Given the description of an element on the screen output the (x, y) to click on. 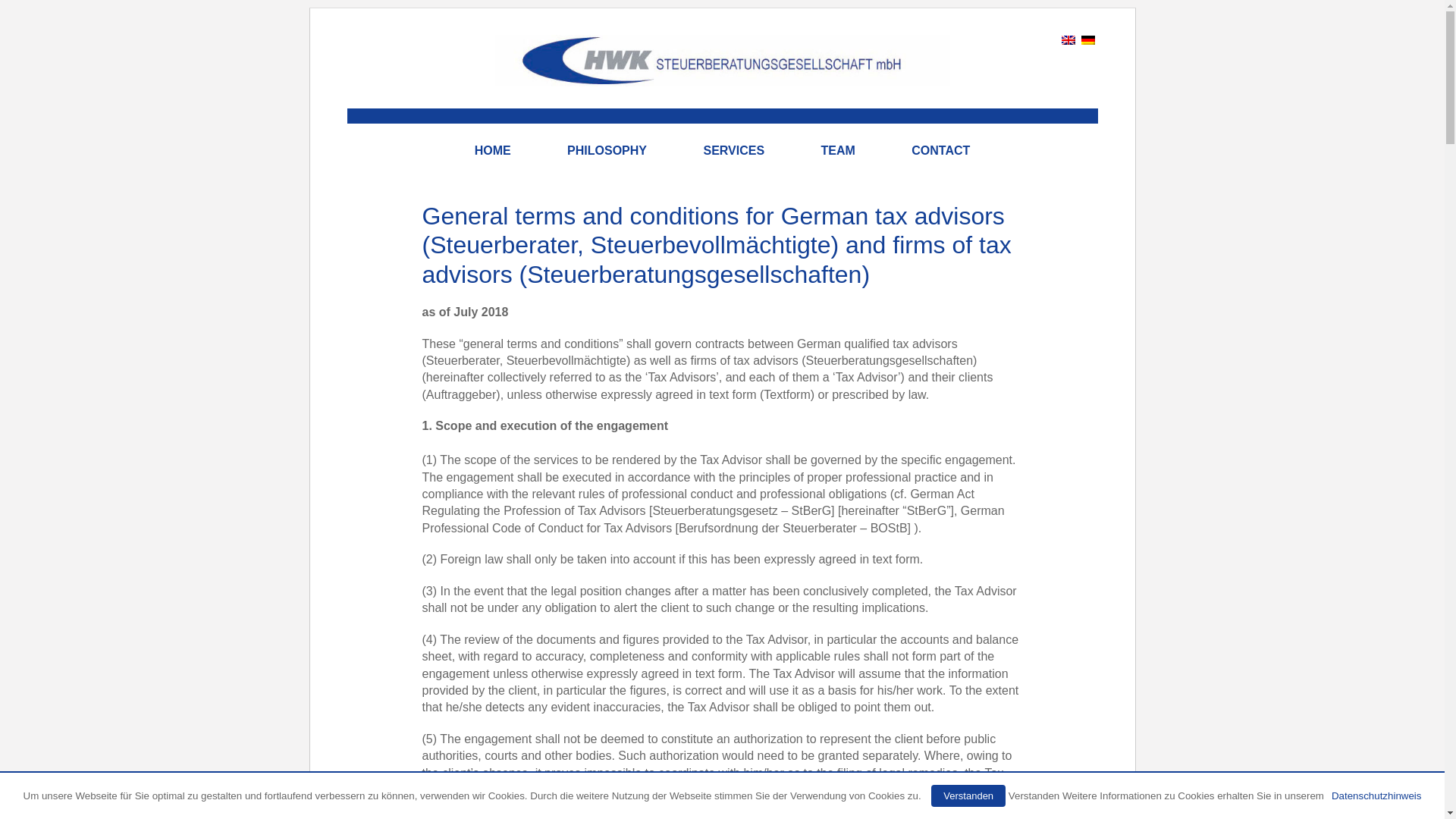
Verstanden (968, 795)
HWK (722, 71)
English (1068, 40)
PHILOSOPHY (606, 150)
Datenschutzhinweis (1377, 795)
SERVICES (733, 150)
CONTACT (940, 150)
Deutsch (1087, 40)
TEAM (837, 150)
